Given the description of an element on the screen output the (x, y) to click on. 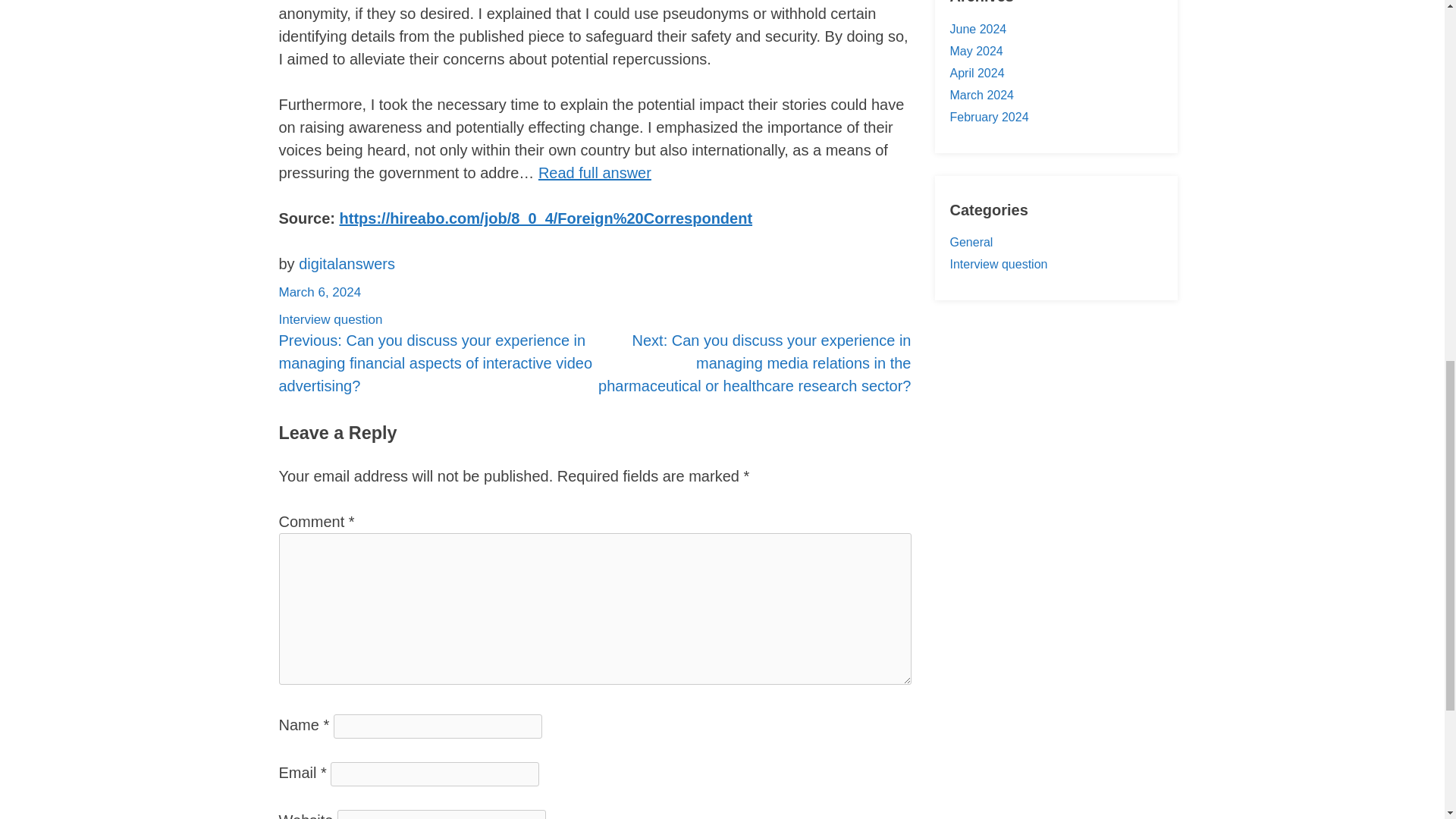
June 2024 (977, 29)
May 2024 (976, 51)
General (970, 241)
digitalanswers (346, 263)
April 2024 (976, 72)
Interview question (997, 264)
March 2024 (981, 94)
